Given the description of an element on the screen output the (x, y) to click on. 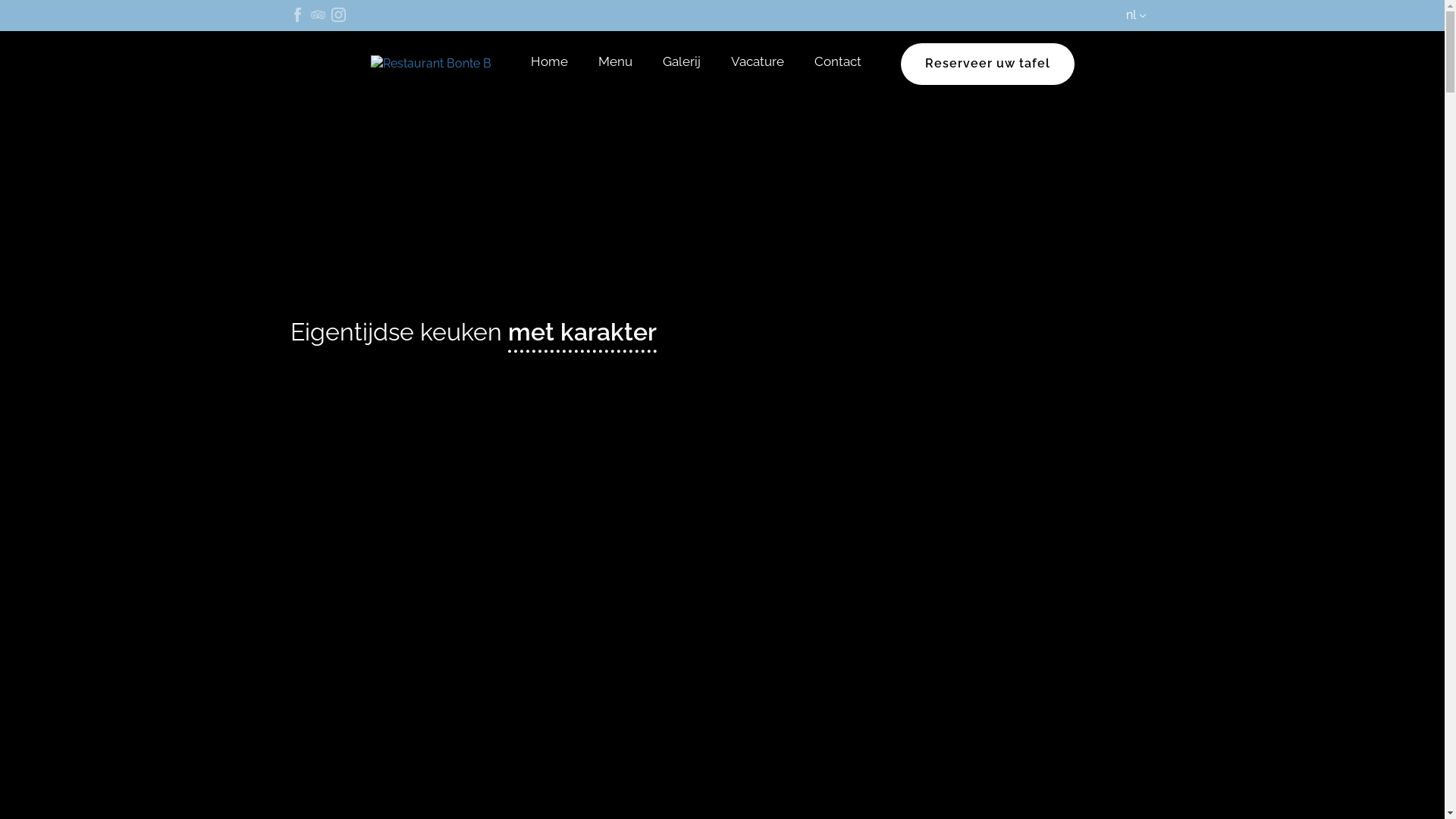
Contact Element type: text (837, 63)
Tripadvisor Element type: hover (317, 14)
Facebook Element type: hover (296, 14)
Restaurant Bonte B Element type: hover (430, 63)
Reserveer uw tafel Element type: text (987, 63)
Instagram Element type: hover (338, 14)
Vacature Element type: text (757, 63)
Galerij Element type: text (681, 63)
Menu Element type: text (614, 63)
Home Element type: text (549, 63)
nl Element type: text (1137, 15)
